Given the description of an element on the screen output the (x, y) to click on. 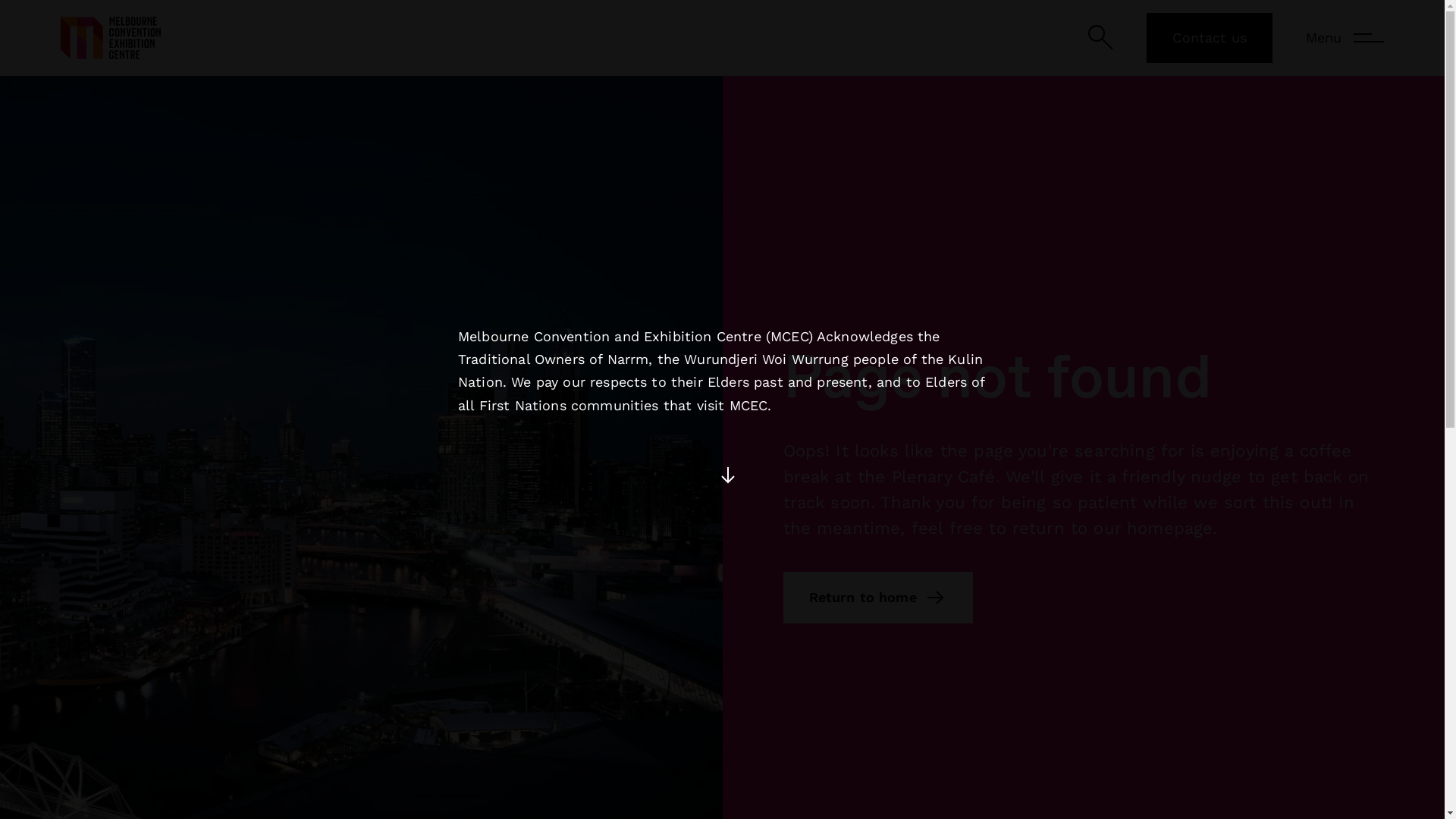
Film and photography Element type: text (1161, 552)
Contact us Element type: text (1209, 37)
Corporate and legal Element type: text (120, 736)
Contact us Element type: text (768, 552)
Menu Element type: text (1344, 37)
Plan your visit Element type: text (778, 411)
Our impact Element type: text (1125, 411)
Student tours Element type: text (1134, 505)
Event planning resources Element type: text (815, 458)
Return to home Element type: text (877, 597)
Venue induction and safety Element type: text (823, 505)
Work with us Element type: text (1131, 458)
Who we are Element type: text (1127, 364)
Back to top Element type: text (1329, 746)
